Given the description of an element on the screen output the (x, y) to click on. 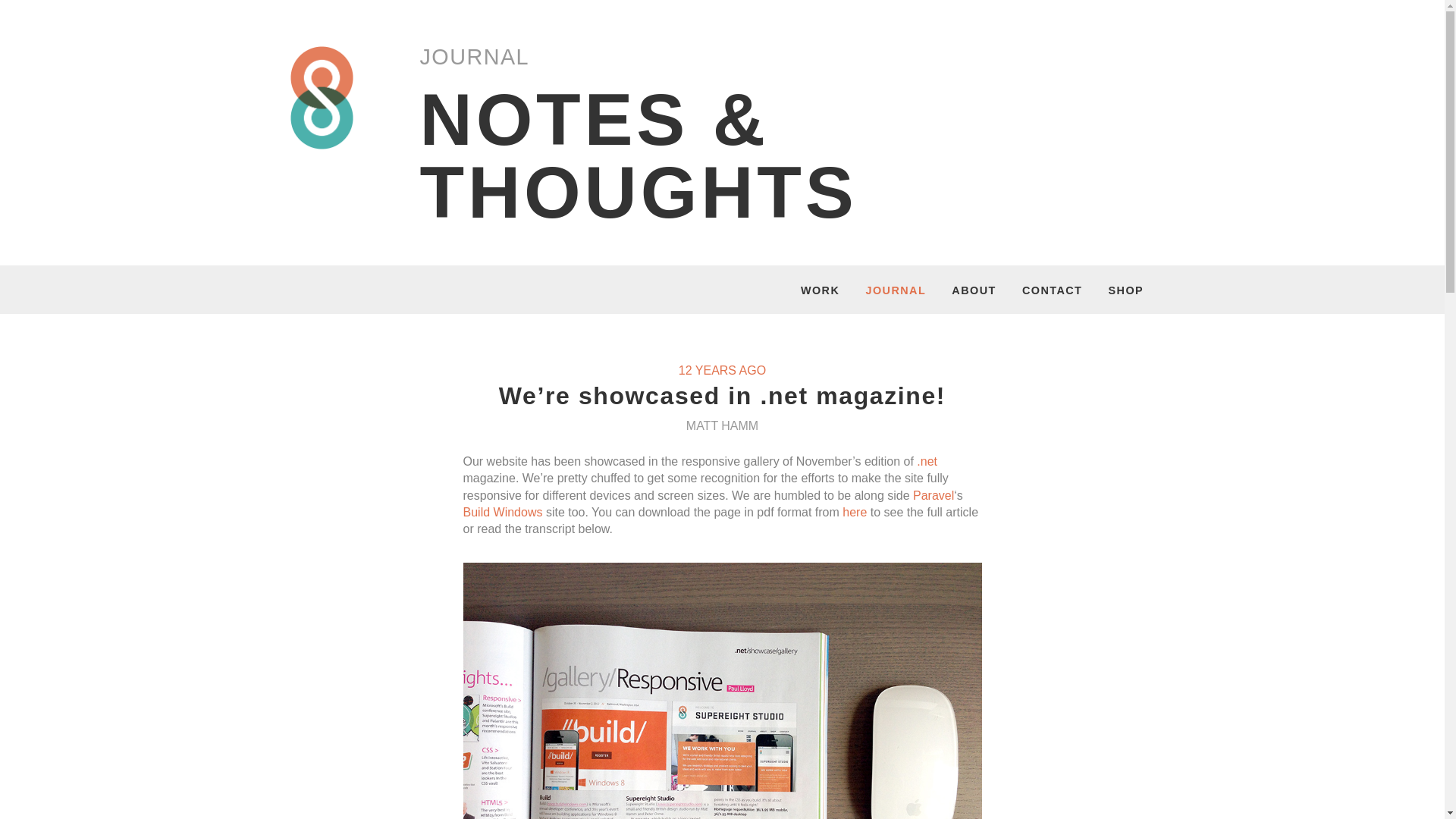
Paravel (932, 494)
12 YEARS AGO (721, 369)
SHOP (1126, 292)
ABOUT (973, 292)
.net (927, 461)
here (854, 512)
JOURNAL (895, 292)
Build Windows (502, 512)
WORK (820, 292)
CONTACT (1051, 292)
